Given the description of an element on the screen output the (x, y) to click on. 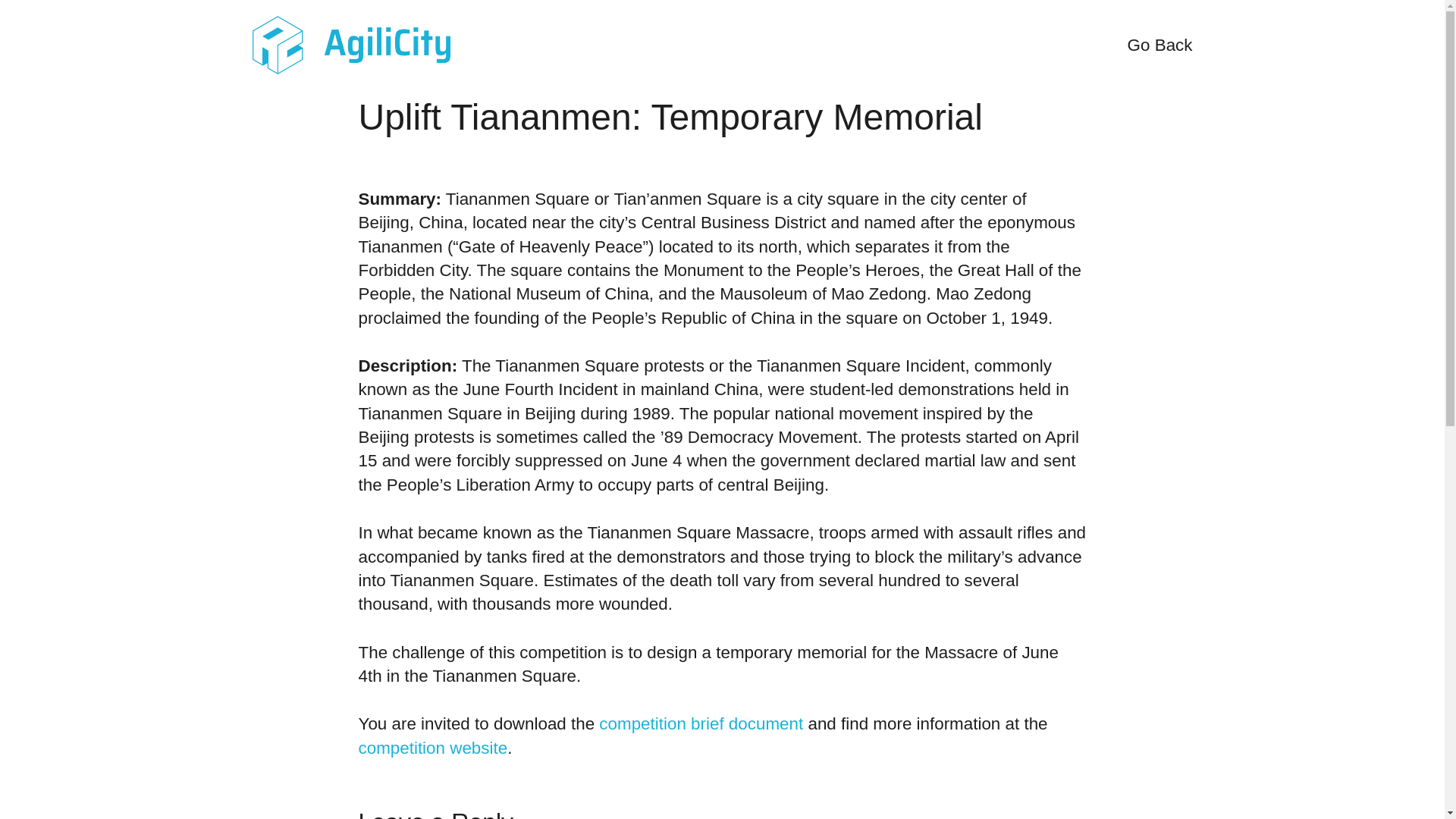
competition brief document (700, 723)
competition website (432, 747)
Go Back (1159, 45)
